Given the description of an element on the screen output the (x, y) to click on. 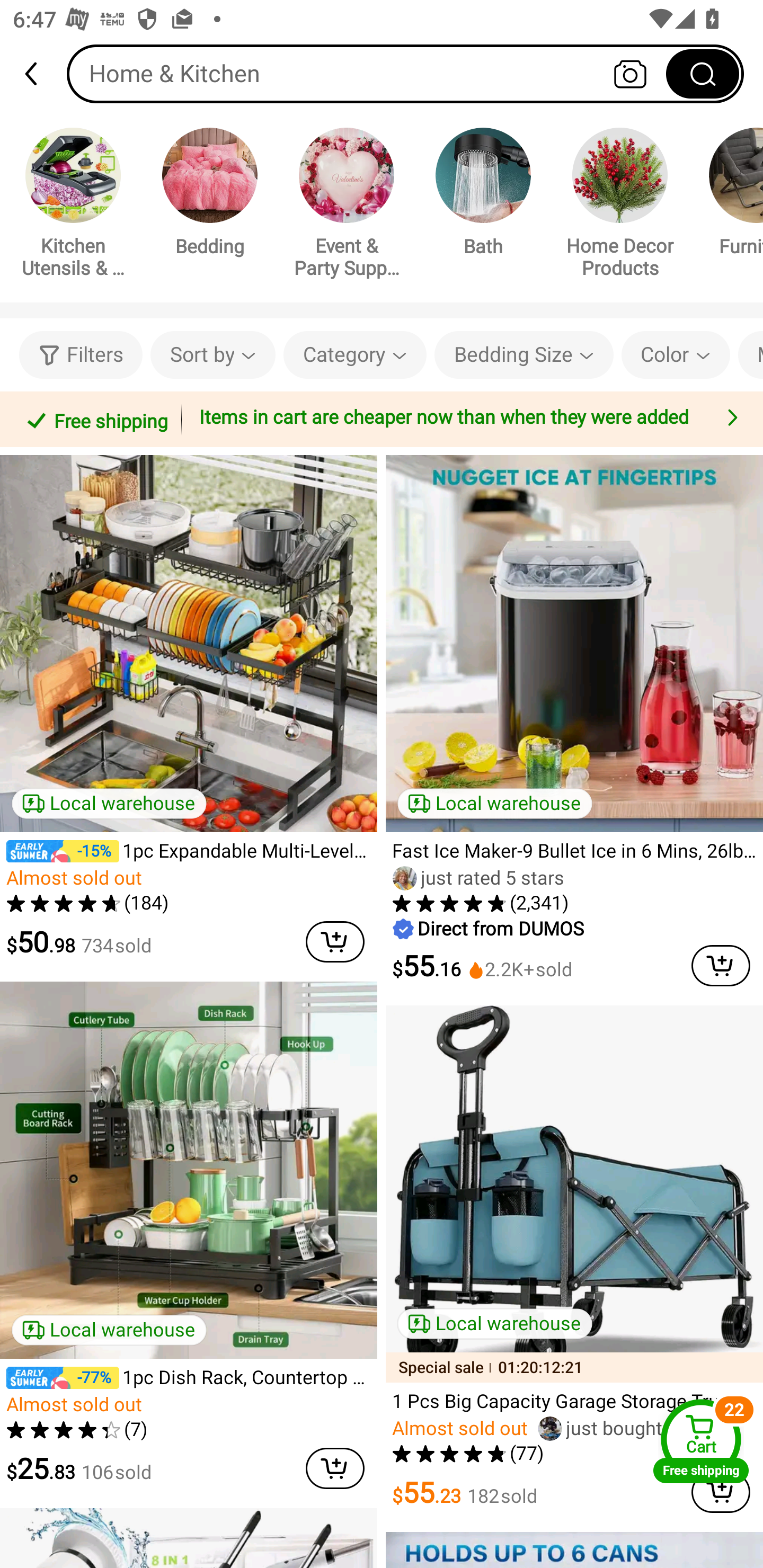
back (39, 73)
Home & Kitchen (405, 73)
Kitchen Utensils & Supplies (73, 205)
Bedding (209, 195)
Event & Party Supplies (346, 205)
Bath (483, 195)
Home Decor Products (619, 205)
Filters (80, 354)
Sort by (212, 354)
Category (354, 354)
Bedding Size (523, 354)
Color (675, 354)
 Free shipping (93, 418)
cart delete (334, 941)
cart delete (720, 965)
Cart Free shipping Cart (701, 1440)
cart delete (334, 1468)
